Given the description of an element on the screen output the (x, y) to click on. 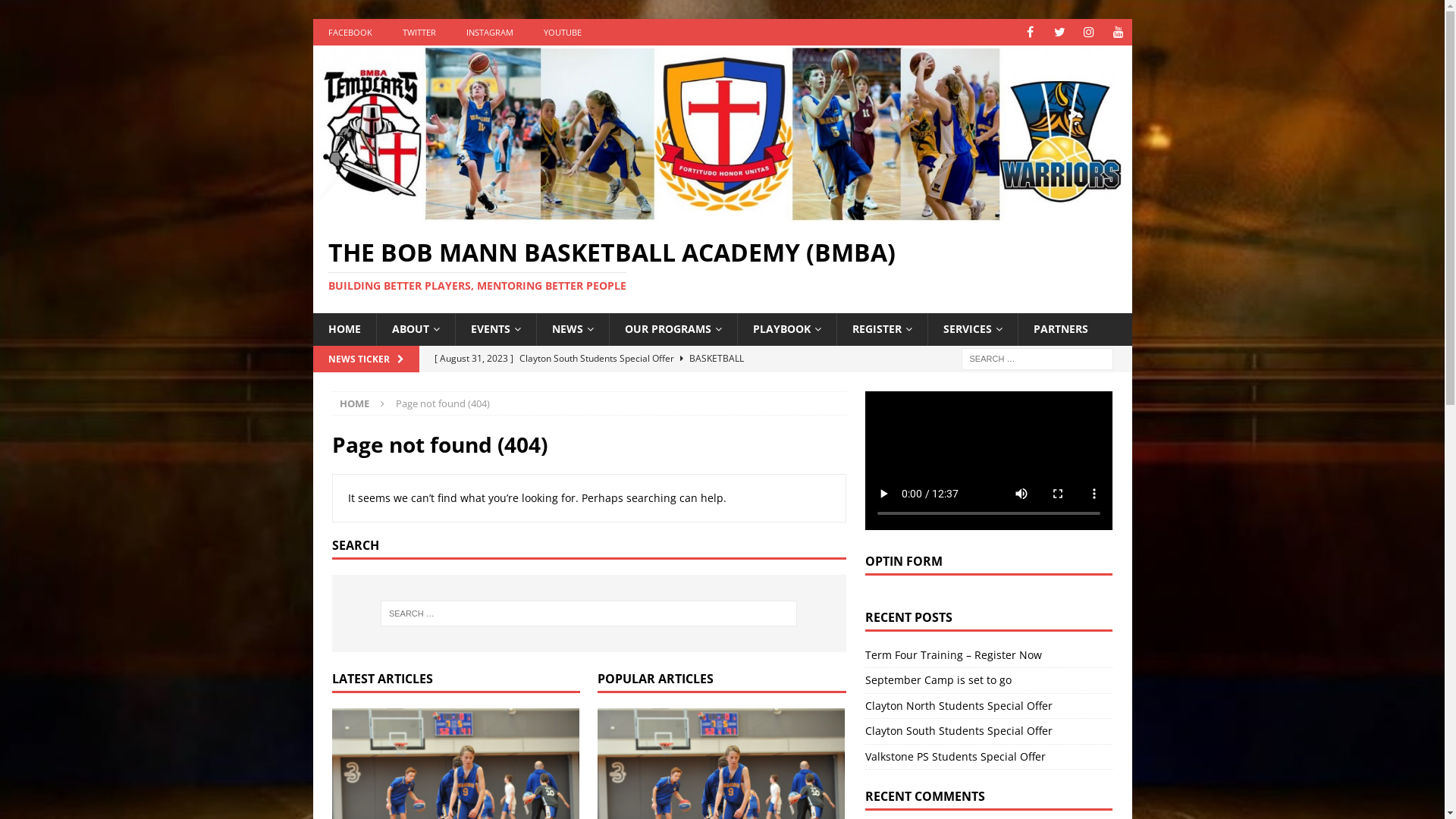
HOME Element type: text (354, 403)
PARTNERS Element type: text (1060, 329)
Clayton North Students Special Offer Element type: text (958, 705)
YOUTUBE Element type: text (561, 31)
FACEBOOK Element type: text (349, 31)
The Bob Mann Basketball Academy (BMBA) Element type: hover (721, 211)
ABOUT Element type: text (415, 329)
NEWS Element type: text (571, 329)
HOME Element type: text (343, 329)
Valkstone PS Students Special Offer Element type: text (955, 756)
PLAYBOOK Element type: text (786, 329)
Search Element type: text (56, 11)
September Camp is set to go Element type: text (938, 679)
EVENTS Element type: text (495, 329)
TWITTER Element type: text (418, 31)
INSTAGRAM Element type: text (488, 31)
OUR PROGRAMS Element type: text (672, 329)
REGISTER Element type: text (880, 329)
SERVICES Element type: text (971, 329)
Clayton South Students Special Offer Element type: text (958, 730)
